Given the description of an element on the screen output the (x, y) to click on. 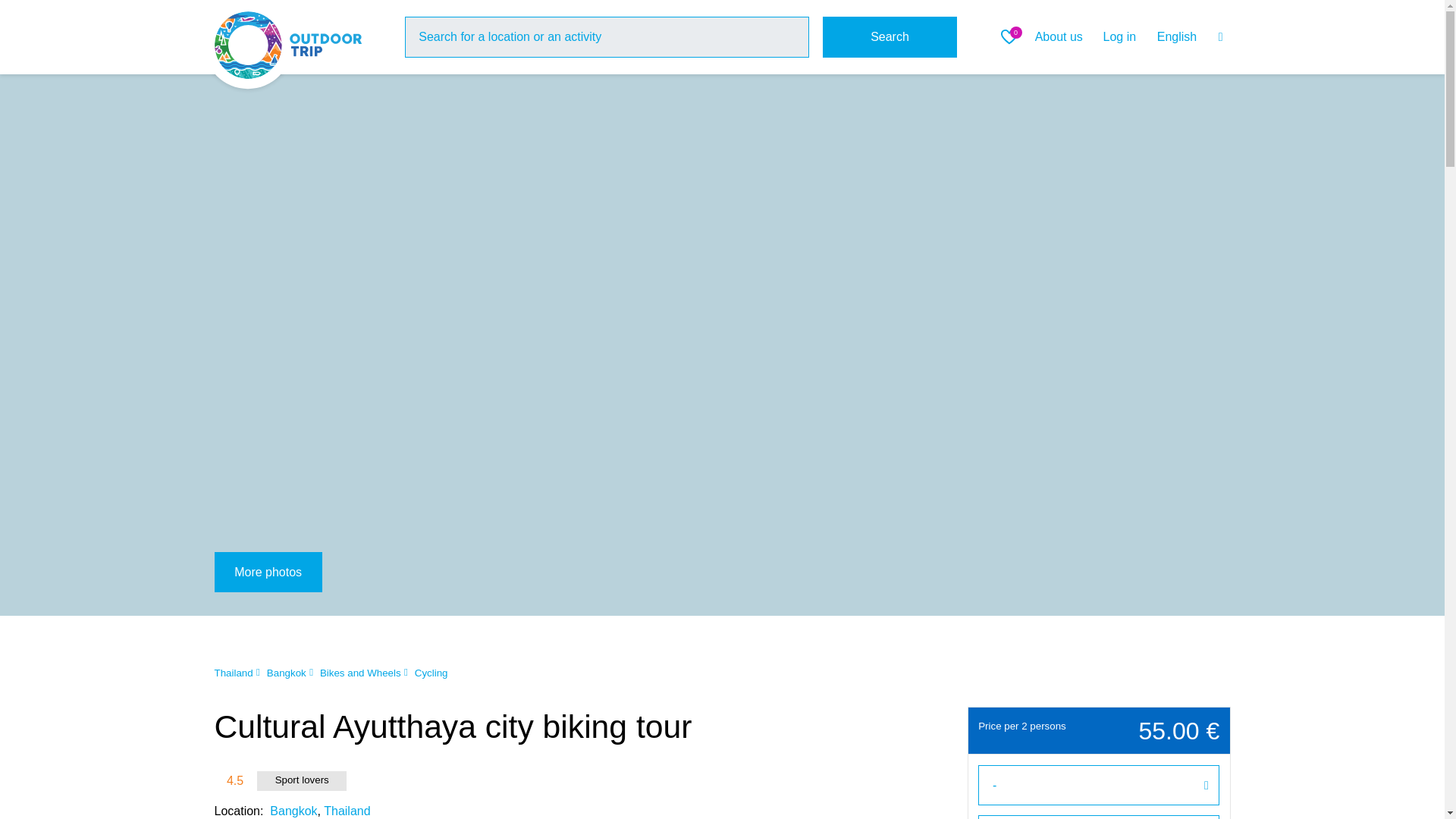
Bangkok (285, 672)
Log in (1118, 37)
Thailand (232, 672)
More photos (267, 572)
About us (1059, 37)
Thailand (346, 810)
- (1099, 784)
Search (890, 36)
Date and time (1099, 816)
English (1190, 36)
Bangkok (293, 810)
0 (1011, 36)
Cycling (431, 672)
Bikes and Wheels (360, 672)
